Given the description of an element on the screen output the (x, y) to click on. 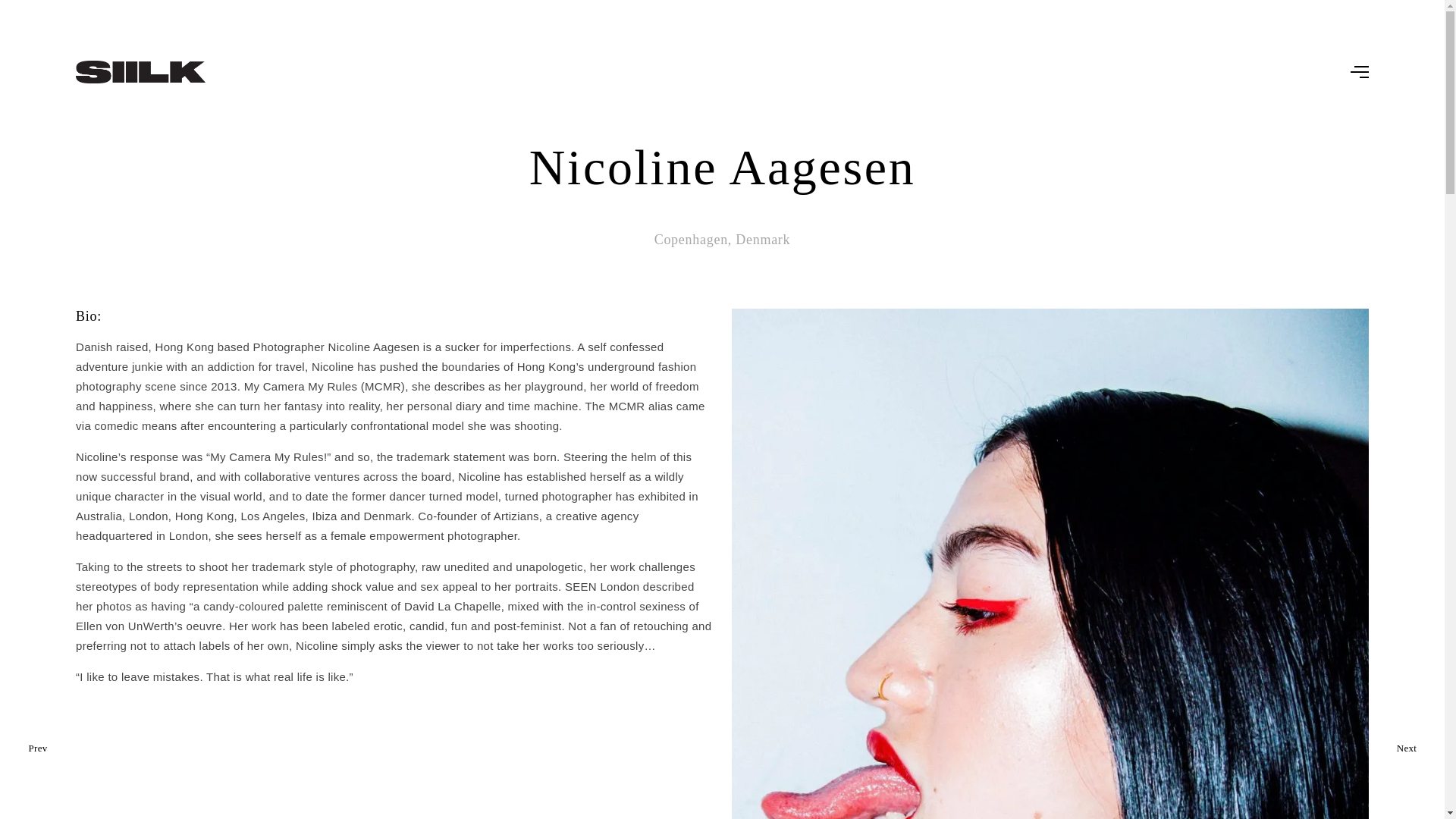
Next (1406, 748)
Prev (36, 748)
